Given the description of an element on the screen output the (x, y) to click on. 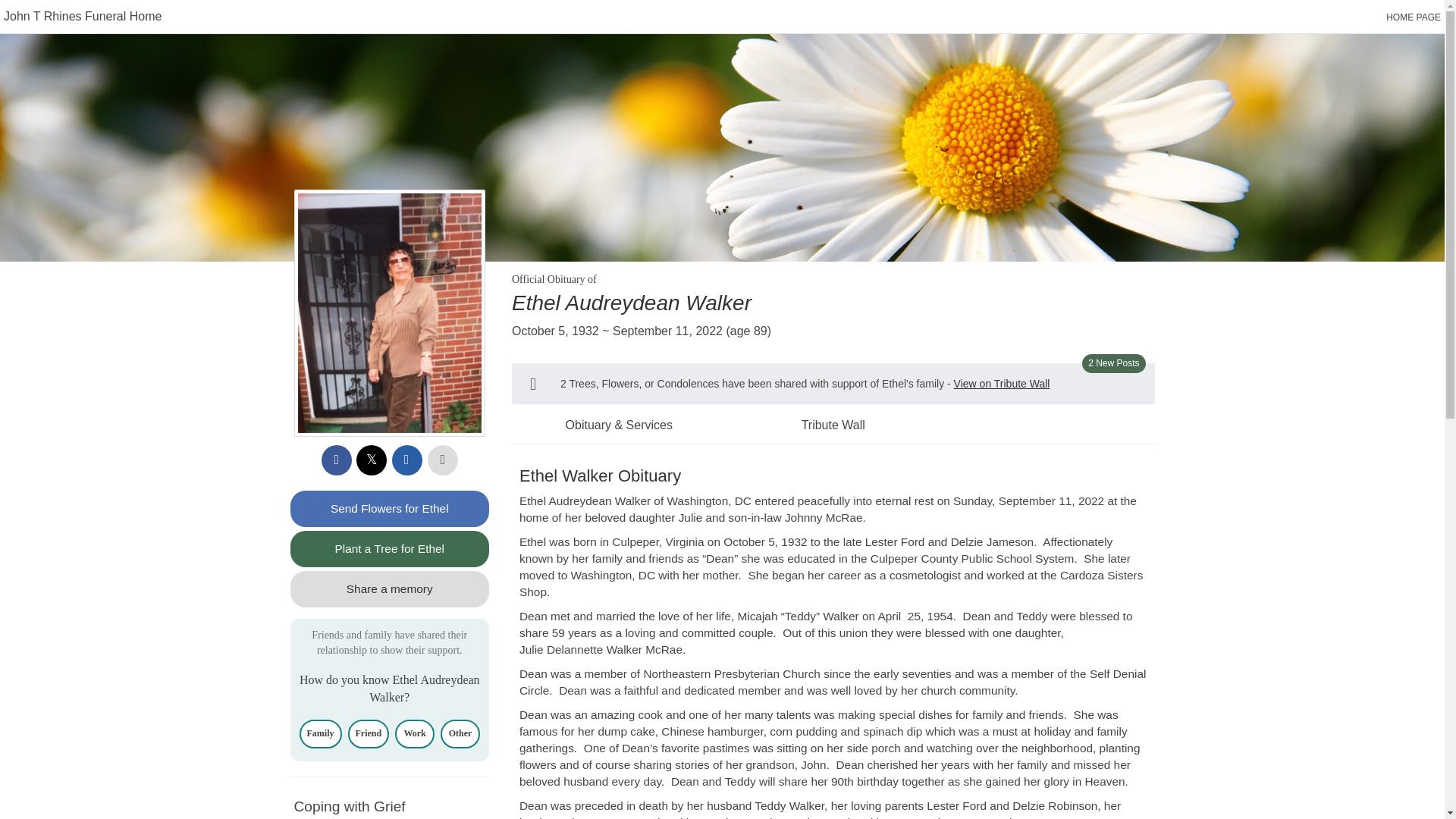
Share a memory (389, 588)
Send Flowers for Ethel (389, 508)
View on Tribute Wall (1001, 383)
Share on X (371, 460)
Share to Facebook (336, 460)
Printable copy (443, 460)
John T Rhines Funeral Home (82, 15)
Plant a Tree for Ethel (389, 548)
Share via email (406, 460)
HOME PAGE (1413, 17)
